Given the description of an element on the screen output the (x, y) to click on. 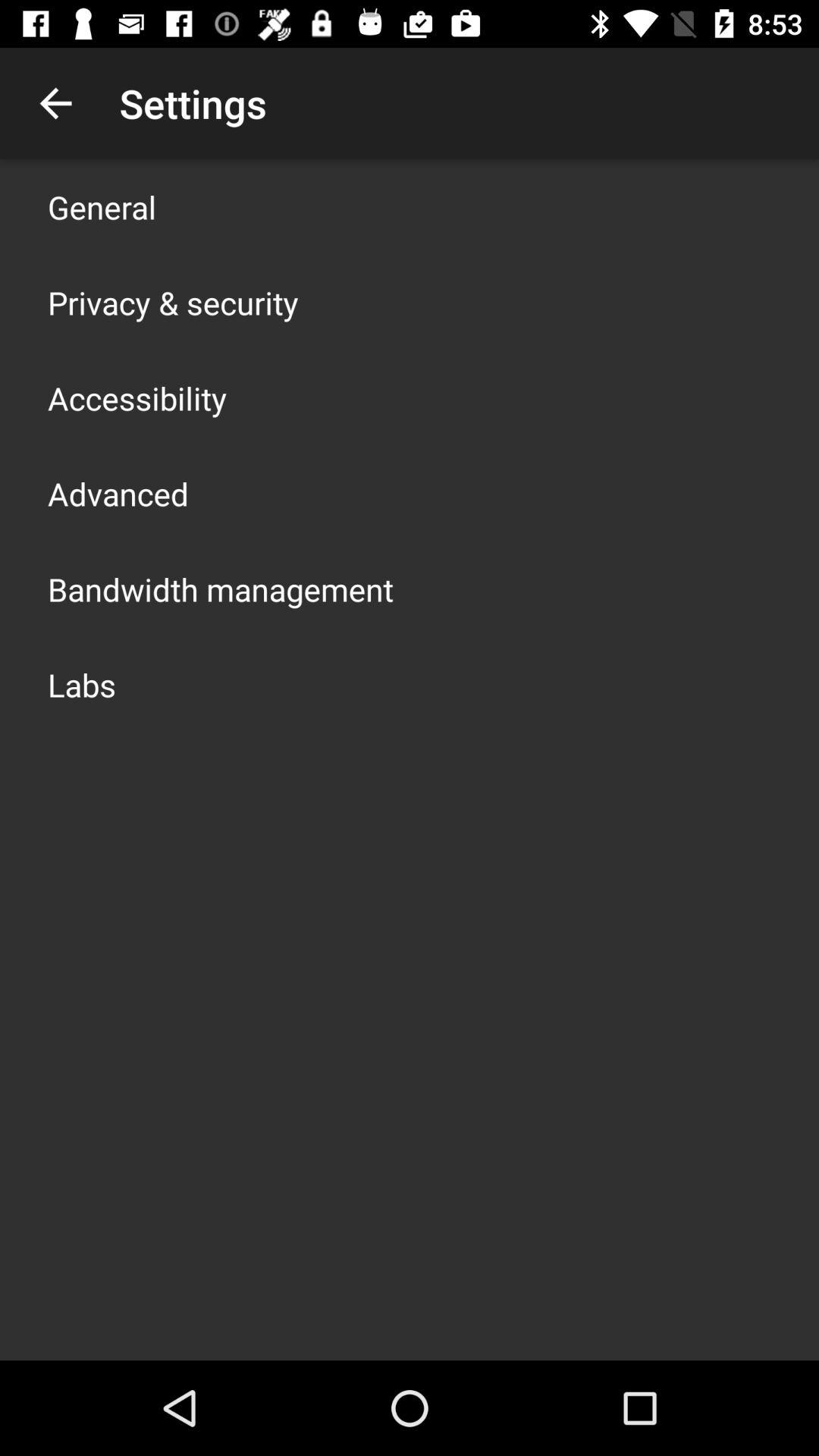
launch app below the privacy & security item (136, 397)
